Given the description of an element on the screen output the (x, y) to click on. 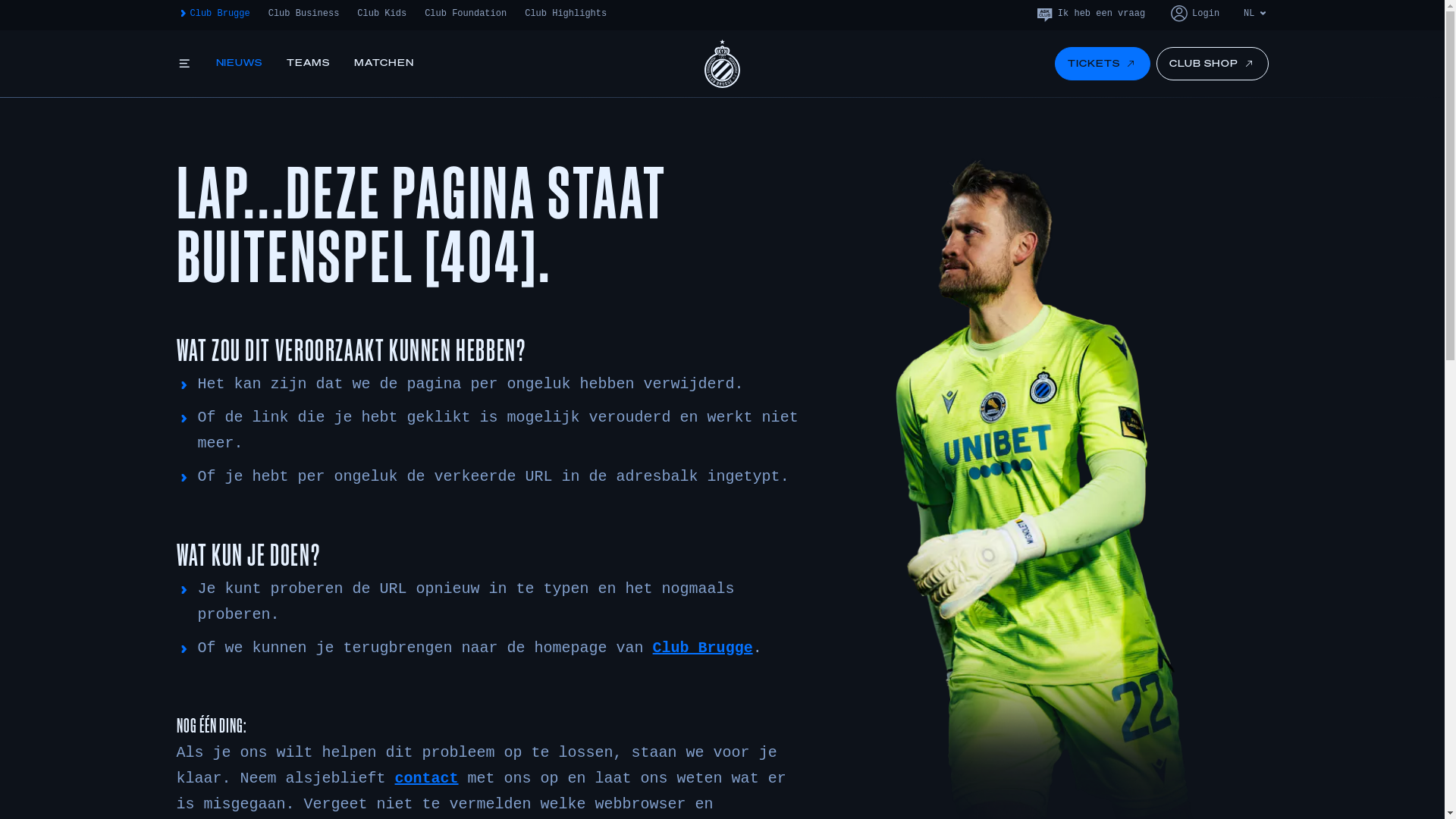
Login Element type: text (1194, 13)
CLUB SHOP Element type: text (1212, 63)
Club Foundation Element type: text (465, 13)
NIEUWS Element type: text (238, 63)
contact Element type: text (426, 778)
NL Element type: text (1255, 40)
Club Business Element type: text (303, 13)
Club Highlights Element type: text (565, 13)
MATCHEN Element type: text (384, 63)
NL Element type: text (1255, 13)
Club Brugge Element type: text (702, 648)
Club Brugge Element type: text (212, 13)
Ik heb een vraag Element type: text (1090, 13)
TEAMS Element type: text (307, 63)
TICKETS Element type: text (1102, 63)
Club Kids Element type: text (381, 13)
